Given the description of an element on the screen output the (x, y) to click on. 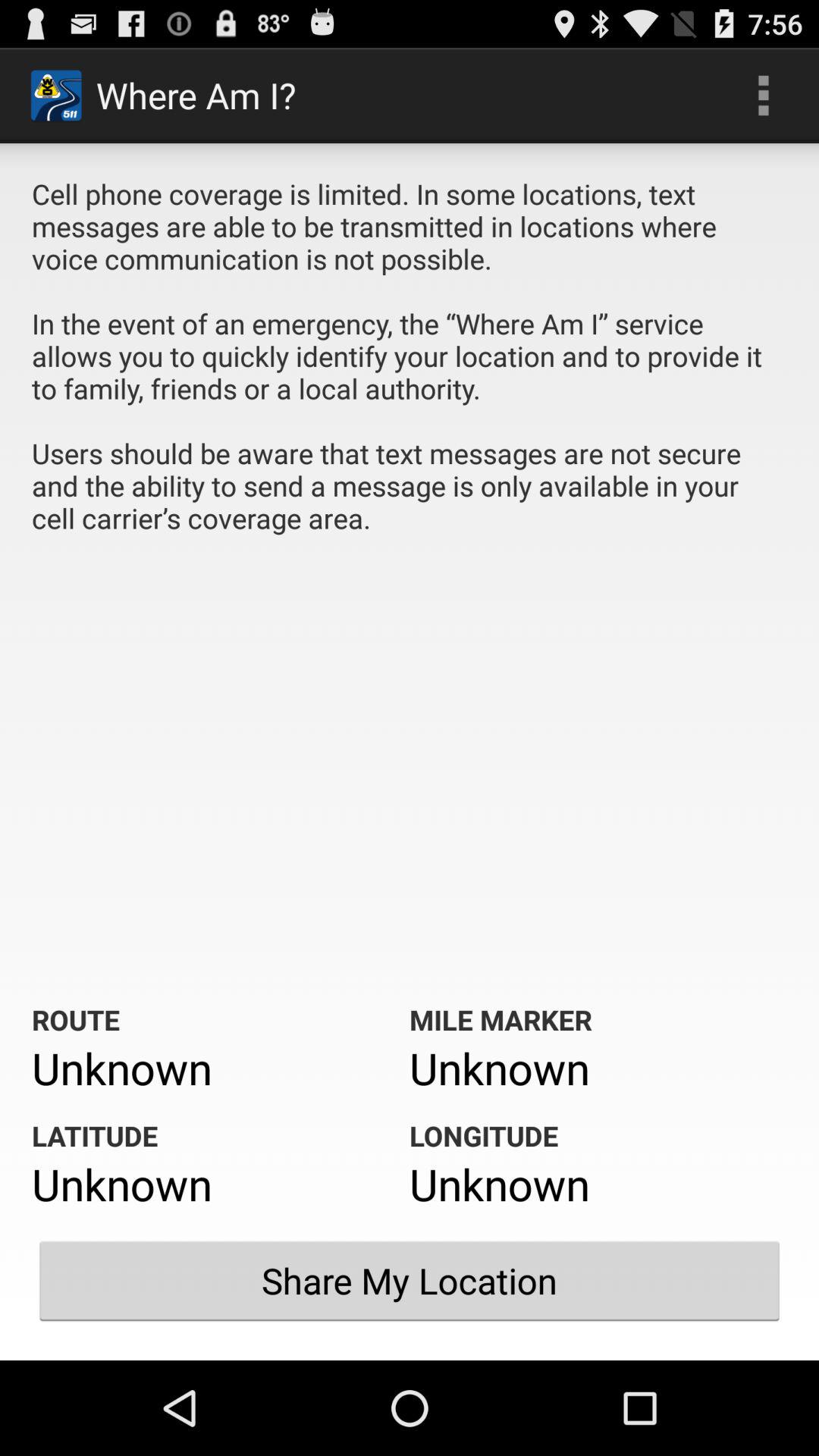
jump to the share my location icon (409, 1280)
